Given the description of an element on the screen output the (x, y) to click on. 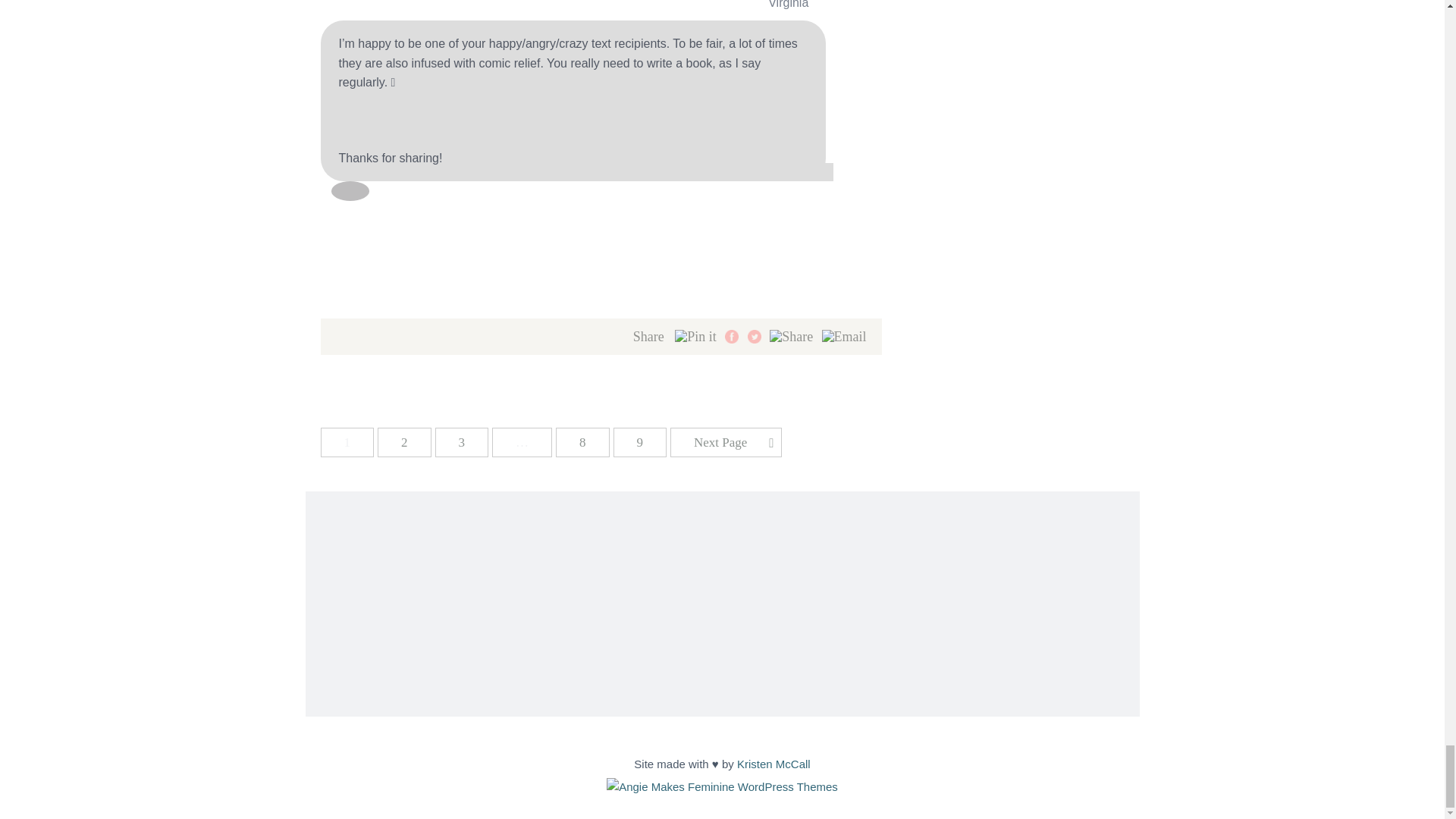
Share by Email (844, 336)
2 (403, 442)
3 (462, 442)
8 (583, 442)
Next Page (725, 442)
9 (639, 442)
